Given the description of an element on the screen output the (x, y) to click on. 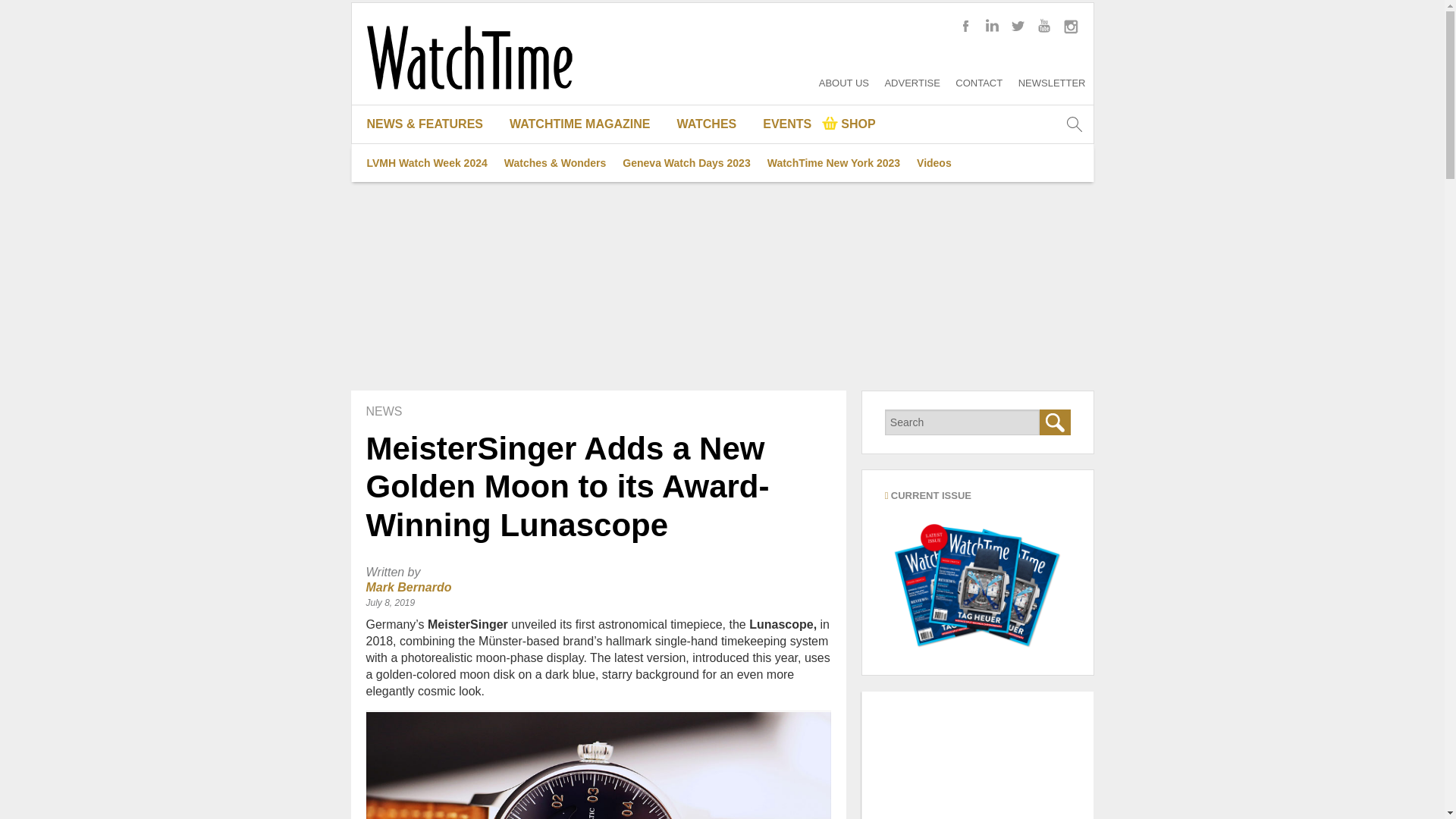
CONTACT (979, 82)
Videos (934, 162)
SHOP (848, 124)
WATCH NEWS (430, 238)
WATCHES (712, 124)
Watch Brands (712, 161)
3rd party ad content (976, 755)
WATCH PRONUNCIATION (712, 199)
Geneva Watch Days 2023 (686, 162)
Current Issue (977, 583)
WATCHTIME MAGAZINE (585, 124)
WatchTime New York 2023 (833, 162)
CURRENT ISSUE (585, 161)
WATCH REVIEWS (430, 275)
